Given the description of an element on the screen output the (x, y) to click on. 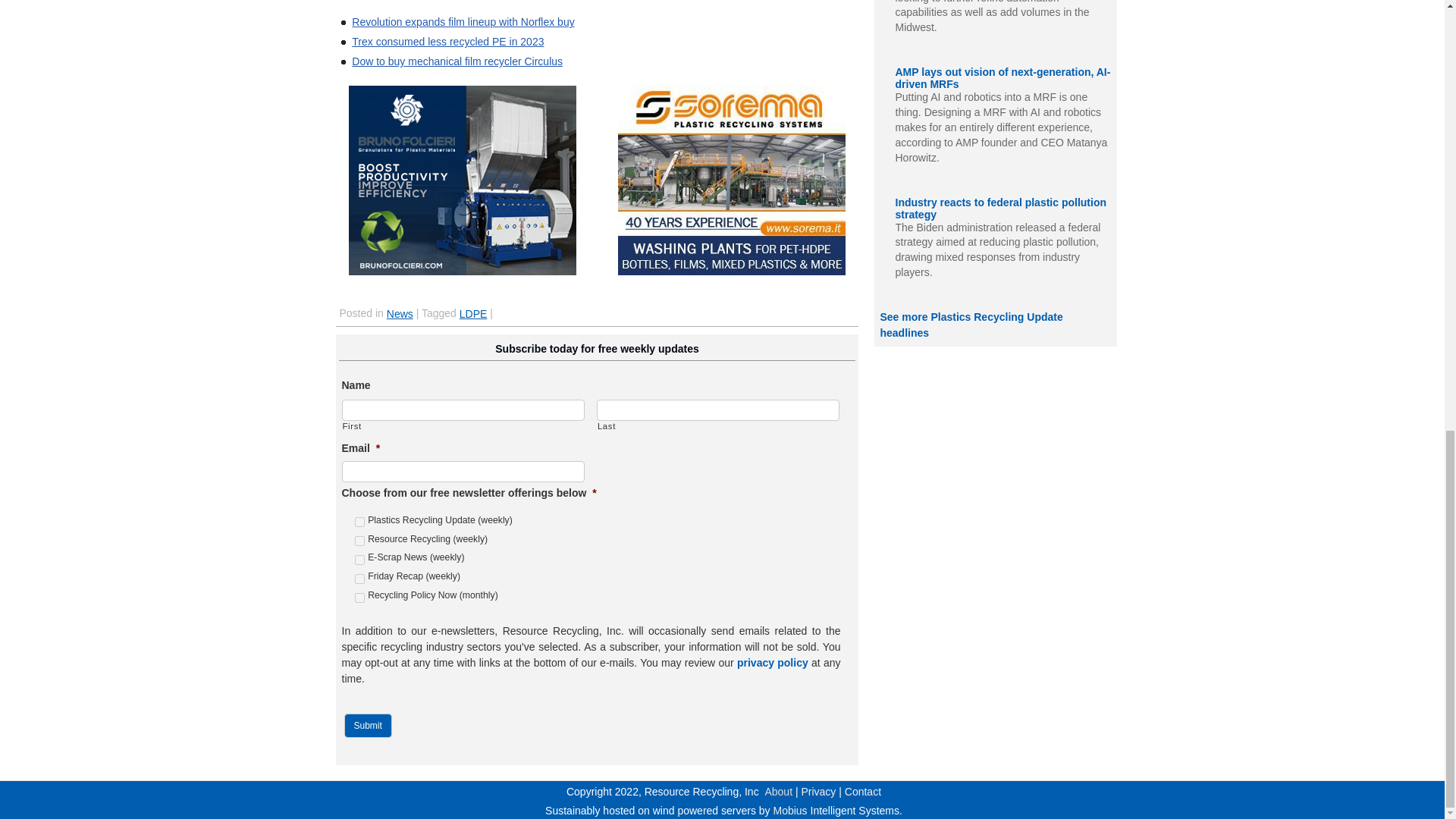
Submit (367, 725)
